Given the description of an element on the screen output the (x, y) to click on. 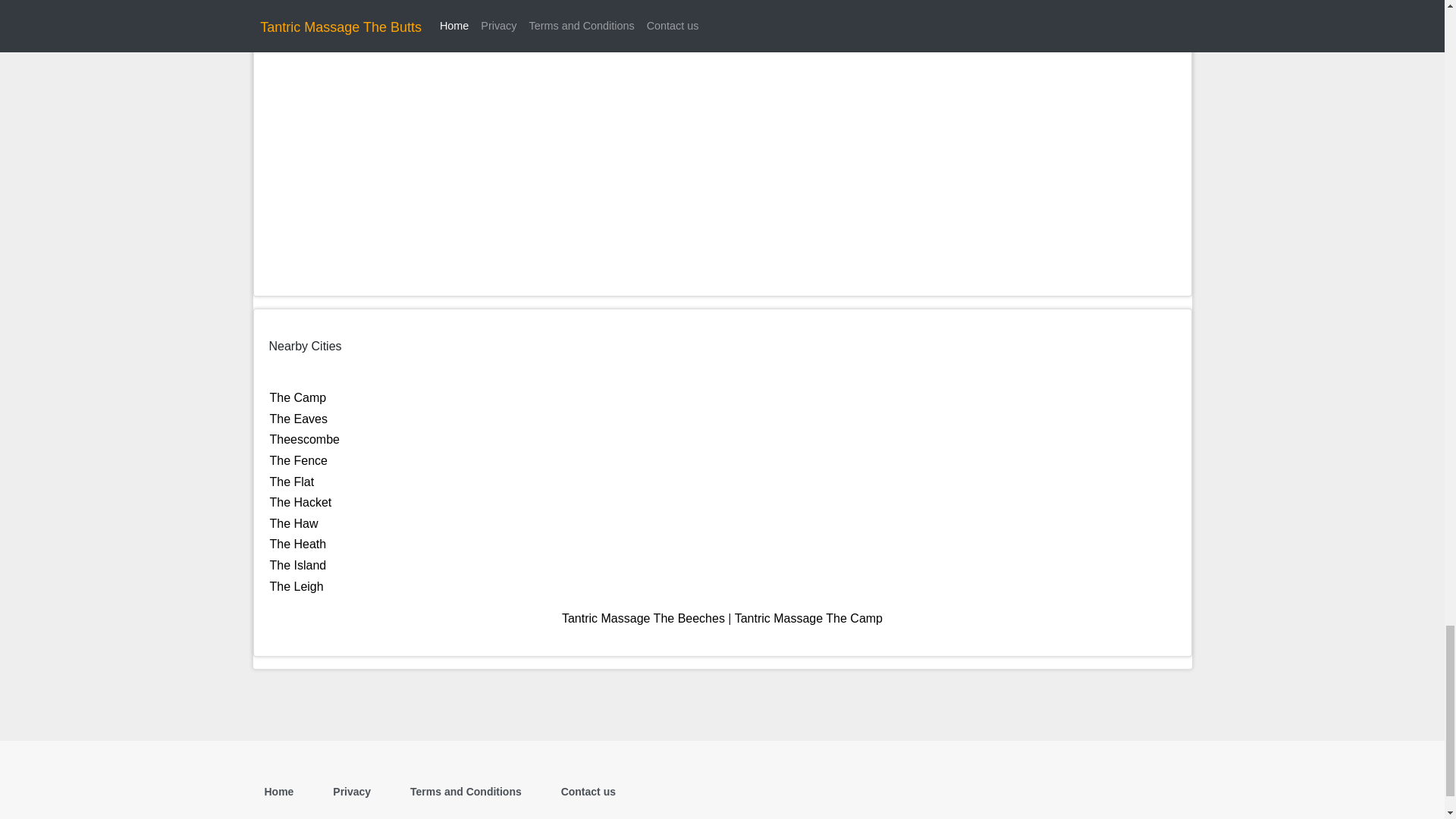
The Camp (297, 397)
The Leigh (296, 585)
The Eaves (298, 418)
The Heath (297, 543)
The Island (297, 564)
The Hacket (300, 502)
Tantric Massage The Camp (808, 617)
Theescombe (304, 439)
Tantric Massage The Beeches (643, 617)
The Fence (298, 460)
The Flat (291, 481)
The Haw (293, 522)
